Given the description of an element on the screen output the (x, y) to click on. 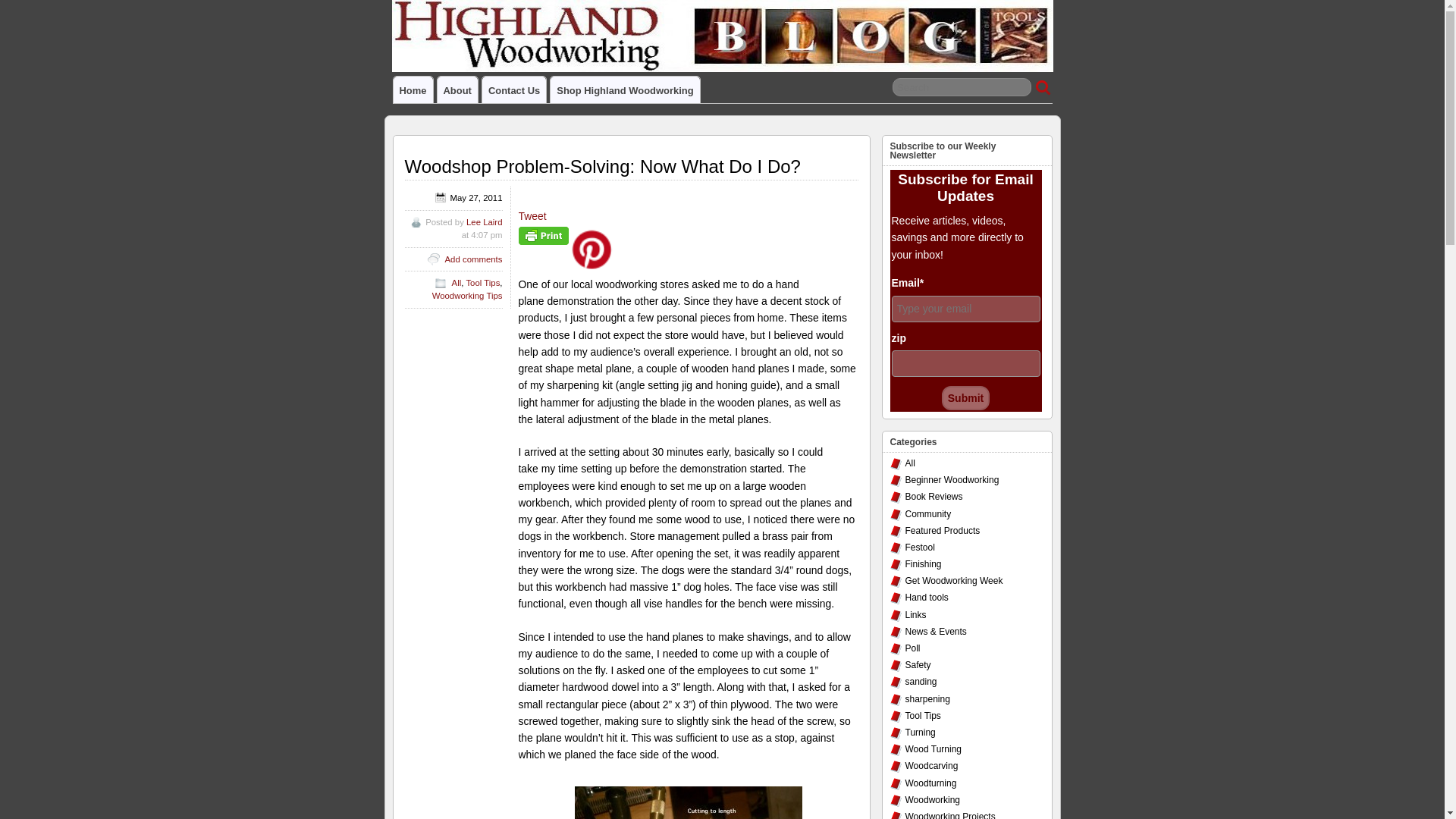
All (456, 282)
All (910, 462)
Add comments (473, 258)
Tweet (532, 215)
Submit (966, 397)
Woodcarving (931, 765)
Poll (912, 647)
Turning (920, 732)
Festool (919, 547)
Hand tools (927, 597)
